Given the description of an element on the screen output the (x, y) to click on. 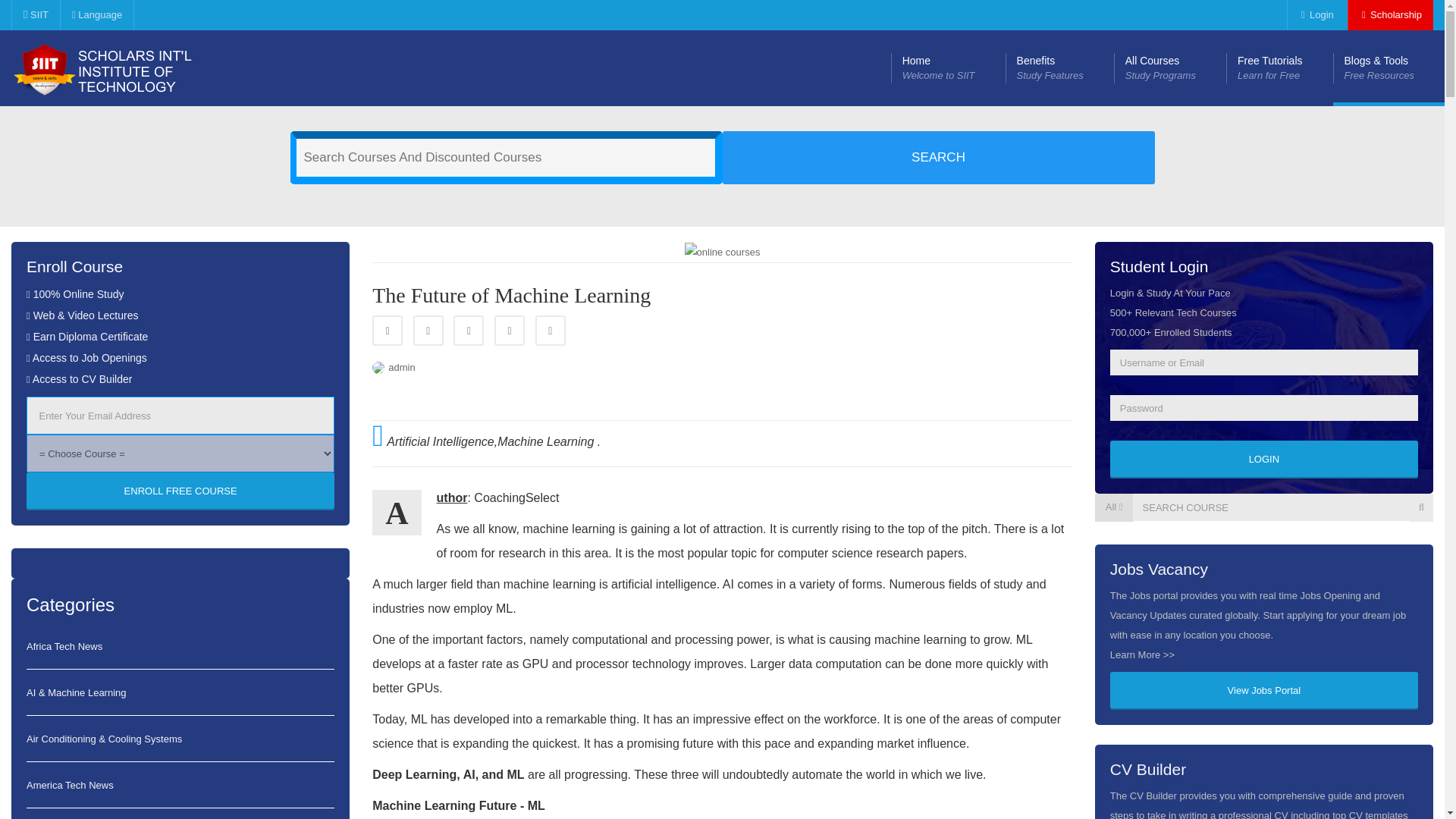
SIIT - Scholars International Institute Of Technology (124, 67)
Login (1315, 15)
2024 IT Scholarship (948, 68)
Language (1390, 15)
Email this (1059, 68)
Share on Facebook (96, 15)
Scholarship (550, 330)
Share on Twitter (387, 330)
Portal Login (1390, 15)
 LOGIN  (428, 330)
Pin this (1315, 15)
Share on Google Plus (1263, 459)
